Given the description of an element on the screen output the (x, y) to click on. 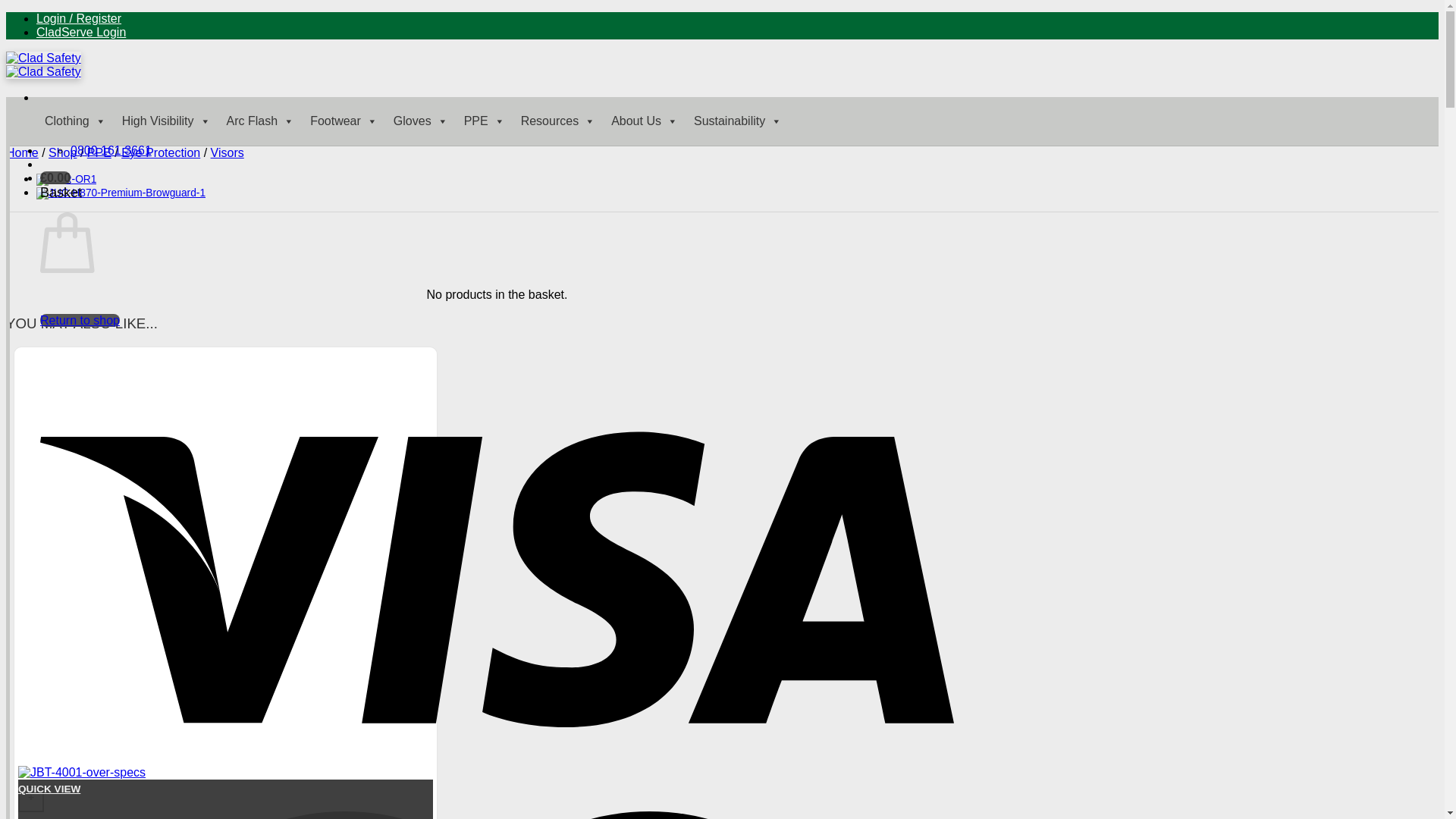
CladServe Login (80, 31)
Clothing (75, 120)
Premium Browguard with Wheel Ratchet (120, 193)
0800 161 3661 (110, 150)
Basket (54, 177)
0800 161 3661 (110, 150)
Login (78, 18)
Return to shop (79, 319)
